Given the description of an element on the screen output the (x, y) to click on. 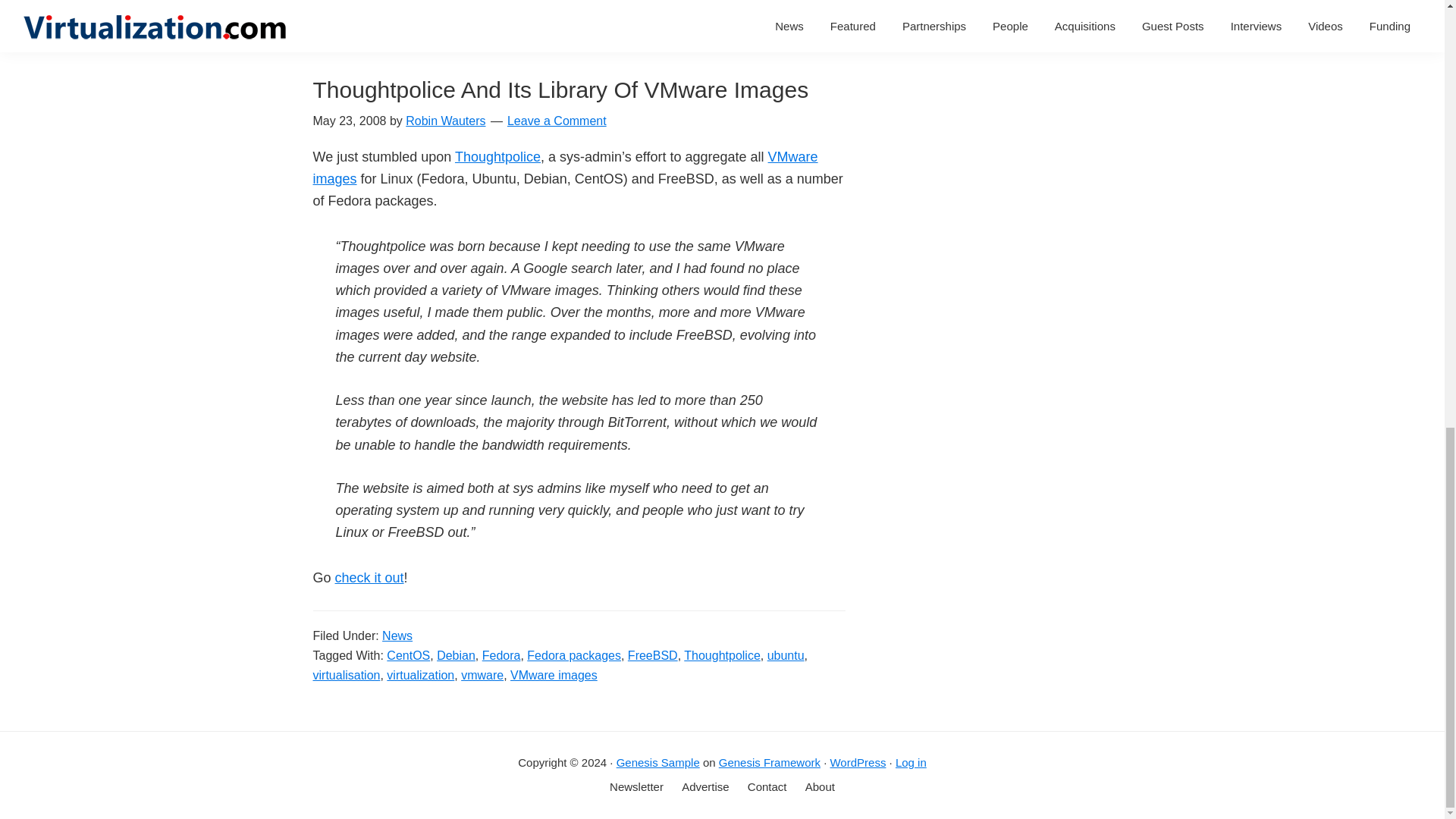
lenny (508, 3)
Elastic Server (350, 3)
Jaunty Jackalope (440, 3)
Leave a Comment (556, 120)
Robin Wauters (445, 120)
ubuntu elastic server platform (569, 13)
check it out (369, 577)
virtualization (471, 20)
VMware images (564, 167)
Thoughtpolice And Its Library Of VMware Images (560, 89)
Thoughtpolice (497, 156)
virtualisation (396, 20)
Ubuntu 9.04 Server Edition (633, 3)
linux (541, 3)
